Given the description of an element on the screen output the (x, y) to click on. 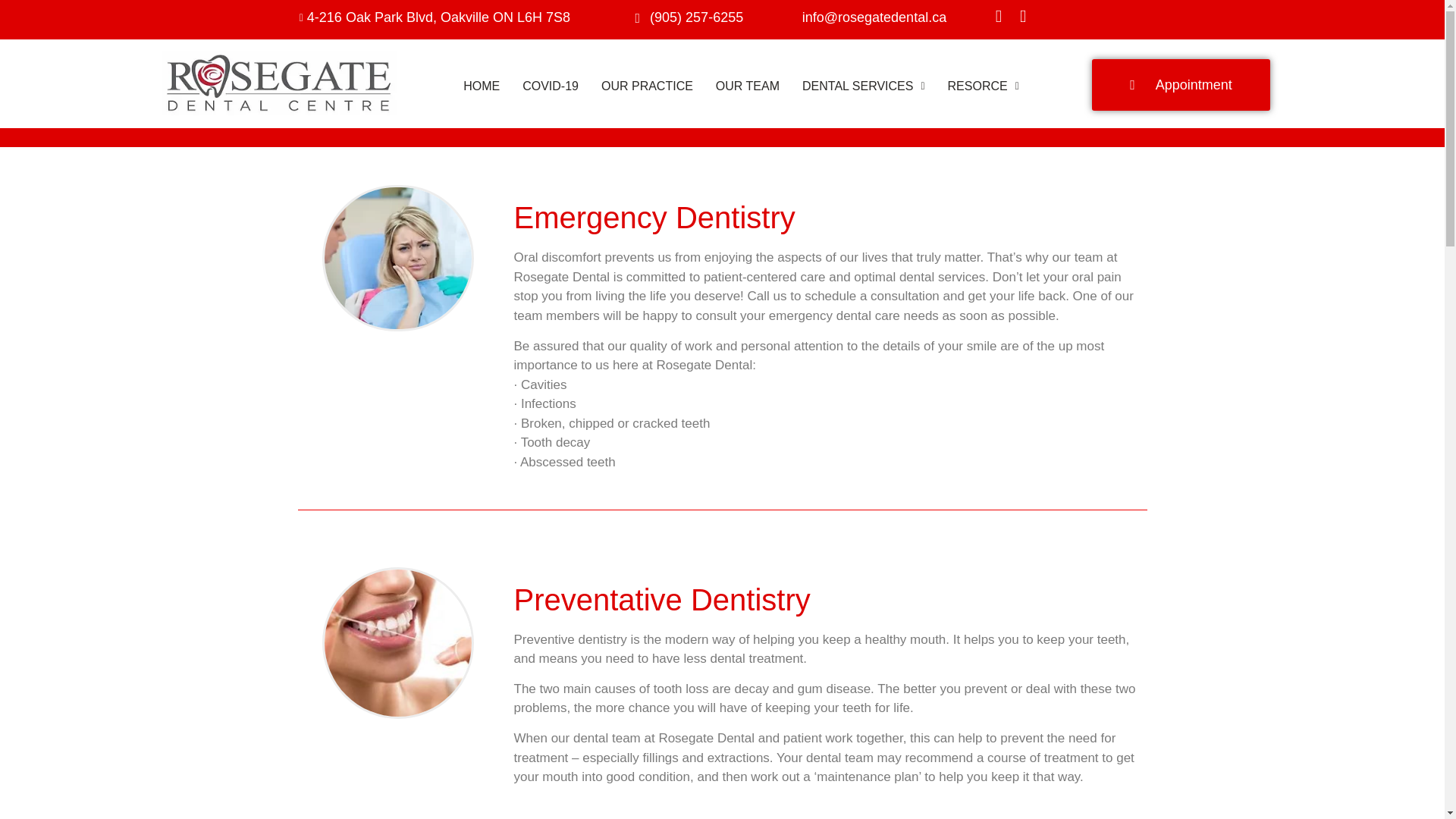
Appointment (1180, 84)
OUR TEAM (747, 86)
DENTAL SERVICES (863, 86)
4-216 Oak Park Blvd, Oakville ON L6H 7S8 (302, 17)
RESORCE (983, 86)
COVID-19 (550, 86)
OUR PRACTICE (646, 86)
HOME (481, 86)
